Given the description of an element on the screen output the (x, y) to click on. 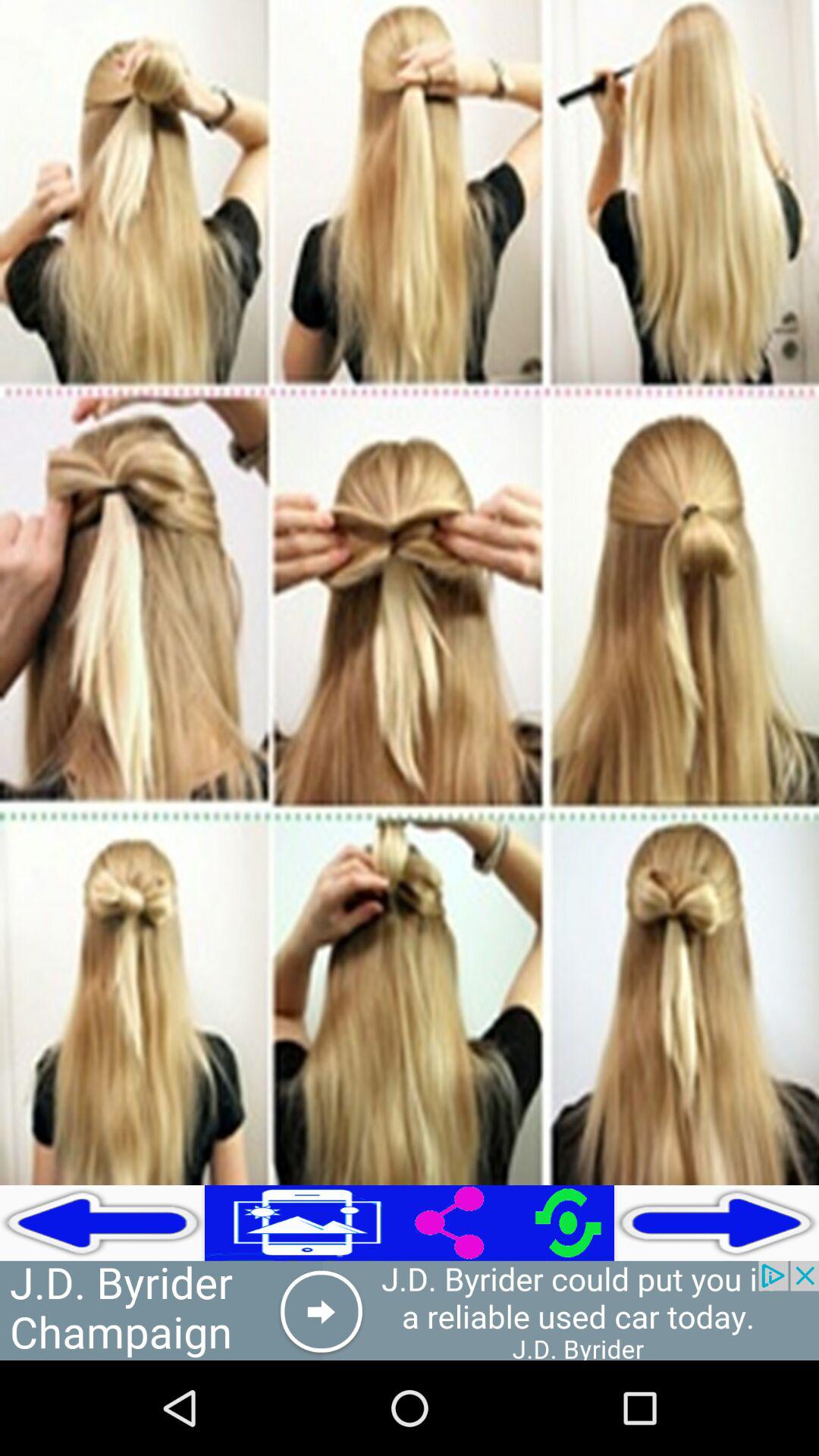
share rotational option (511, 1222)
